Given the description of an element on the screen output the (x, y) to click on. 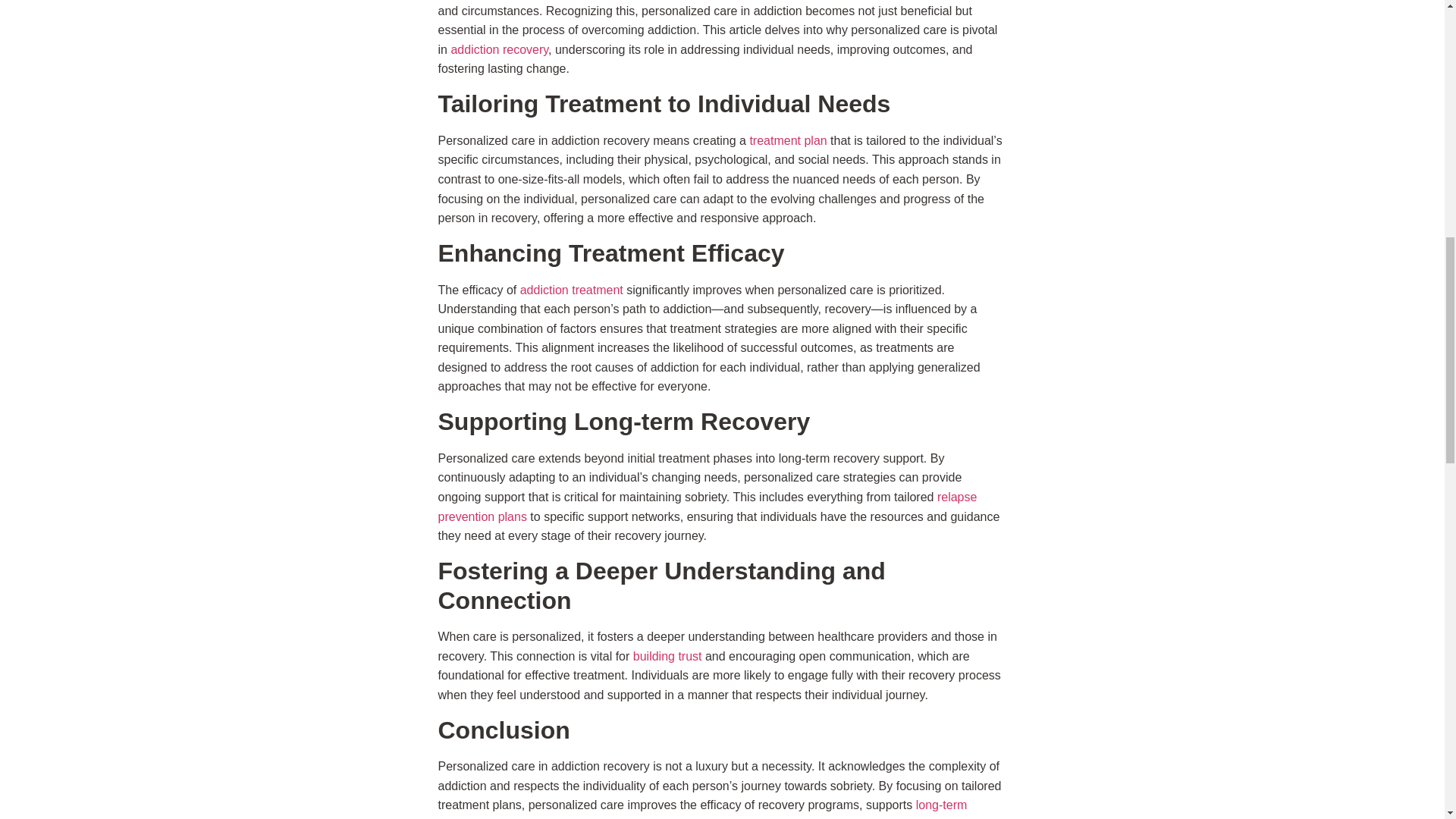
addiction treatment (571, 289)
addiction recovery (498, 49)
treatment plan (788, 140)
building trust (667, 656)
relapse prevention plans (707, 506)
